Given the description of an element on the screen output the (x, y) to click on. 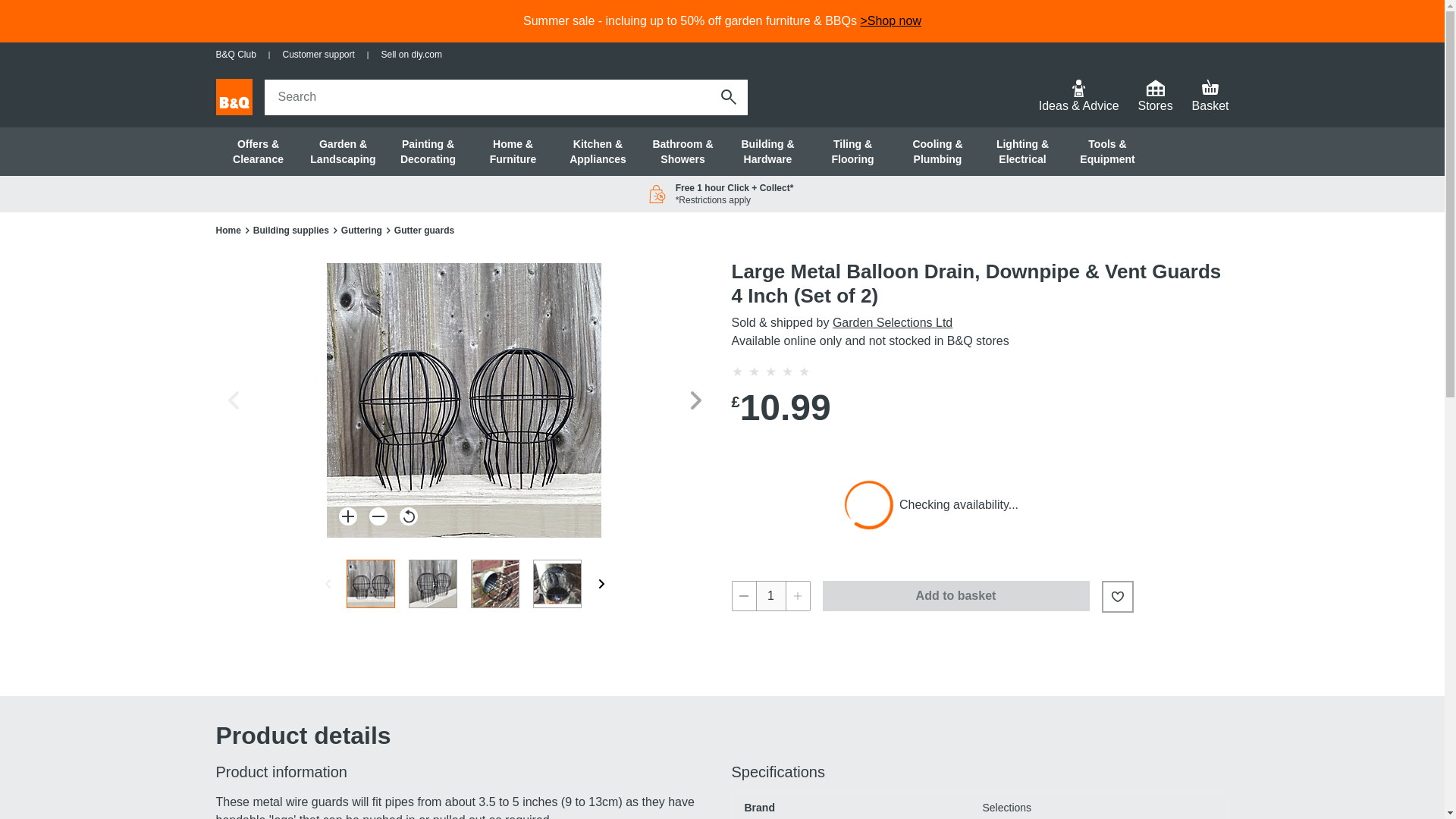
1 (770, 595)
Empty star (736, 371)
Empty star (786, 371)
Stores (1155, 96)
Customer support (317, 54)
Empty star (803, 371)
Empty star (754, 371)
Basket (1210, 96)
Sell on diy.com (410, 54)
Close (719, 96)
